Given the description of an element on the screen output the (x, y) to click on. 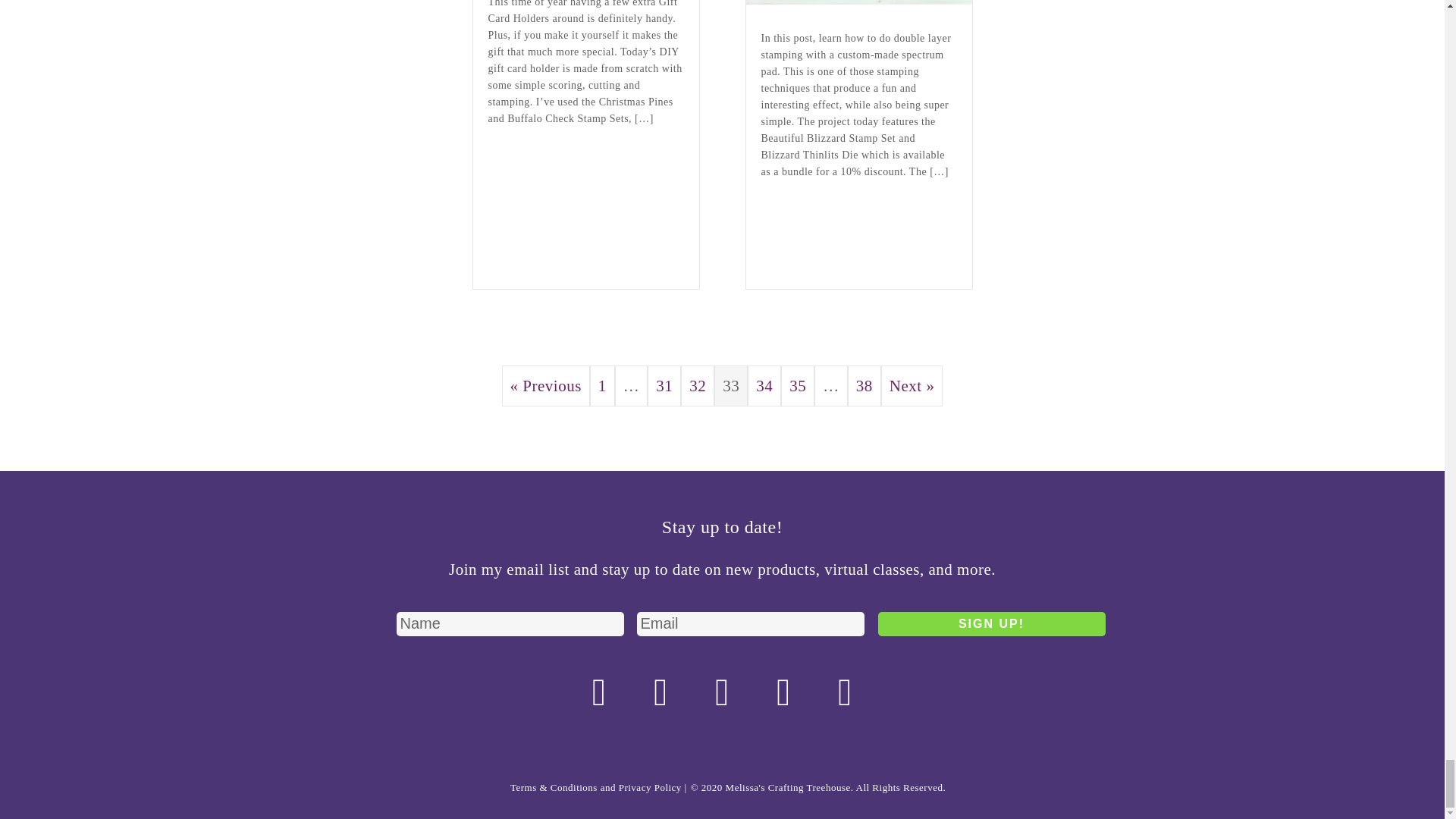
Sign up! (991, 623)
